Given the description of an element on the screen output the (x, y) to click on. 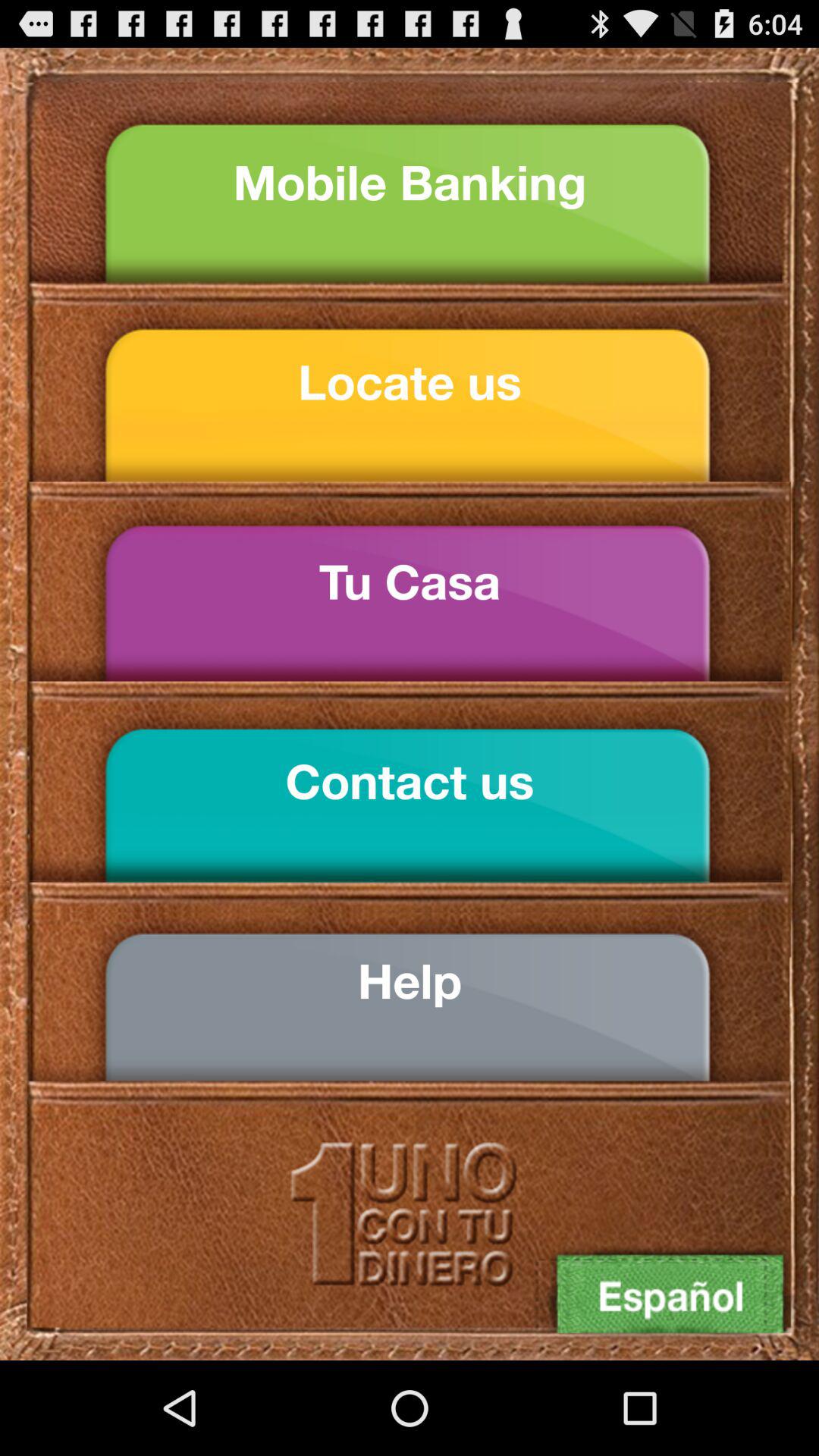
jump to locate us app (409, 382)
